Given the description of an element on the screen output the (x, y) to click on. 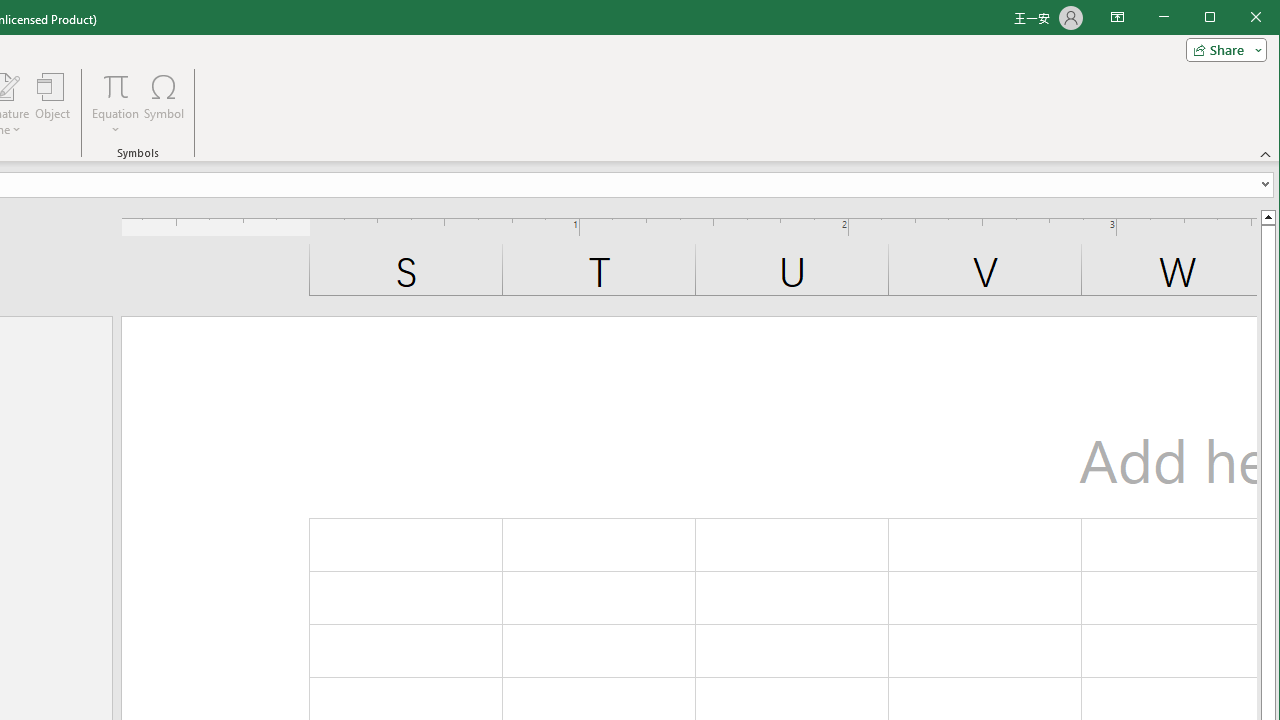
Equation (115, 104)
Maximize (1238, 18)
Equation (115, 86)
Symbol... (164, 104)
Object... (53, 104)
